Given the description of an element on the screen output the (x, y) to click on. 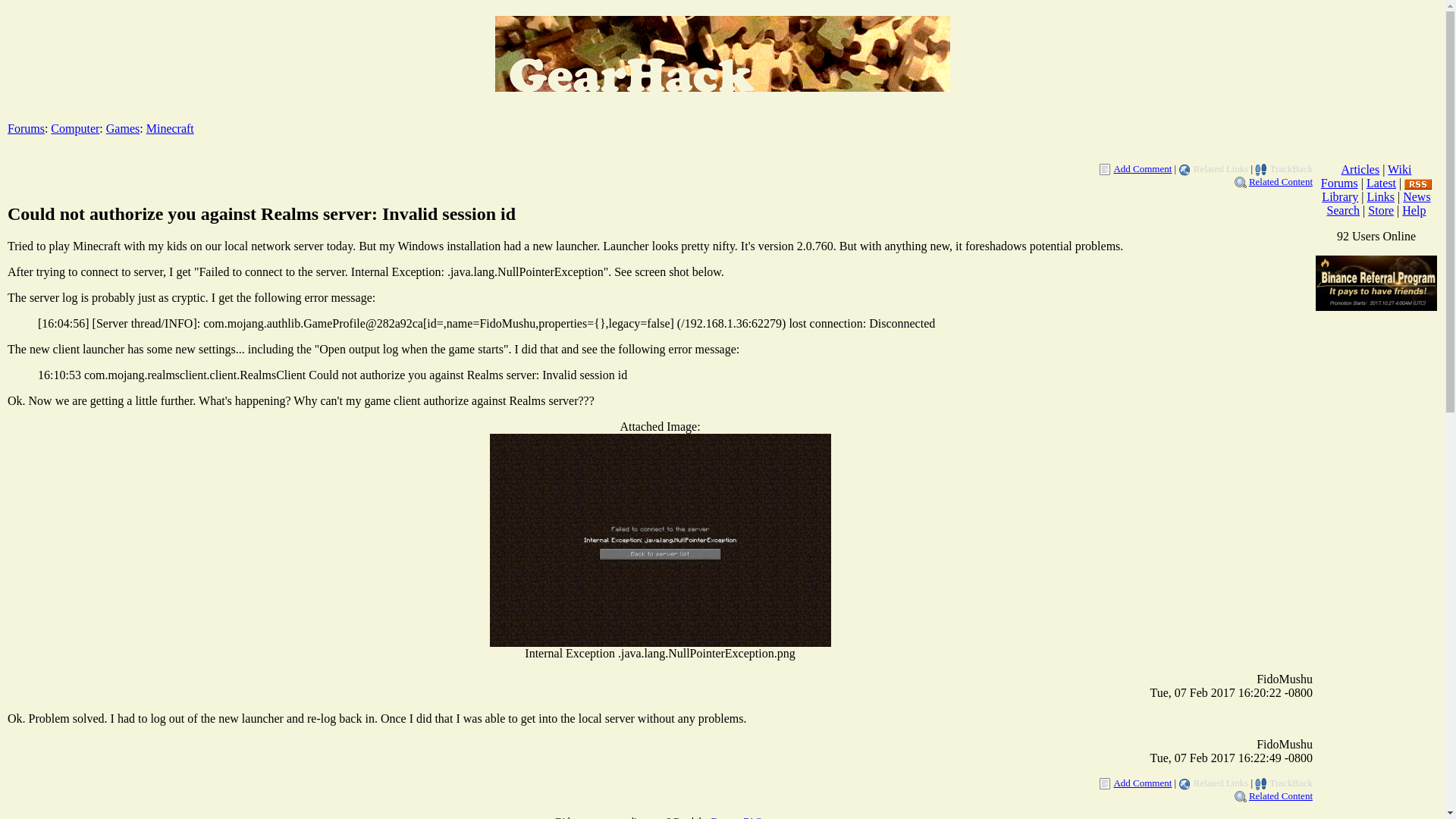
Related Content (1281, 181)
Search (1342, 210)
Related Content (1281, 795)
Forums (1339, 182)
Forums FAQ (735, 816)
Forums (26, 128)
Add Comment (1142, 168)
Minecraft (170, 128)
Latest (1381, 182)
Computer (74, 128)
Games (122, 128)
Articles (1360, 169)
Links (1380, 196)
Library (1340, 196)
News (1416, 196)
